Given the description of an element on the screen output the (x, y) to click on. 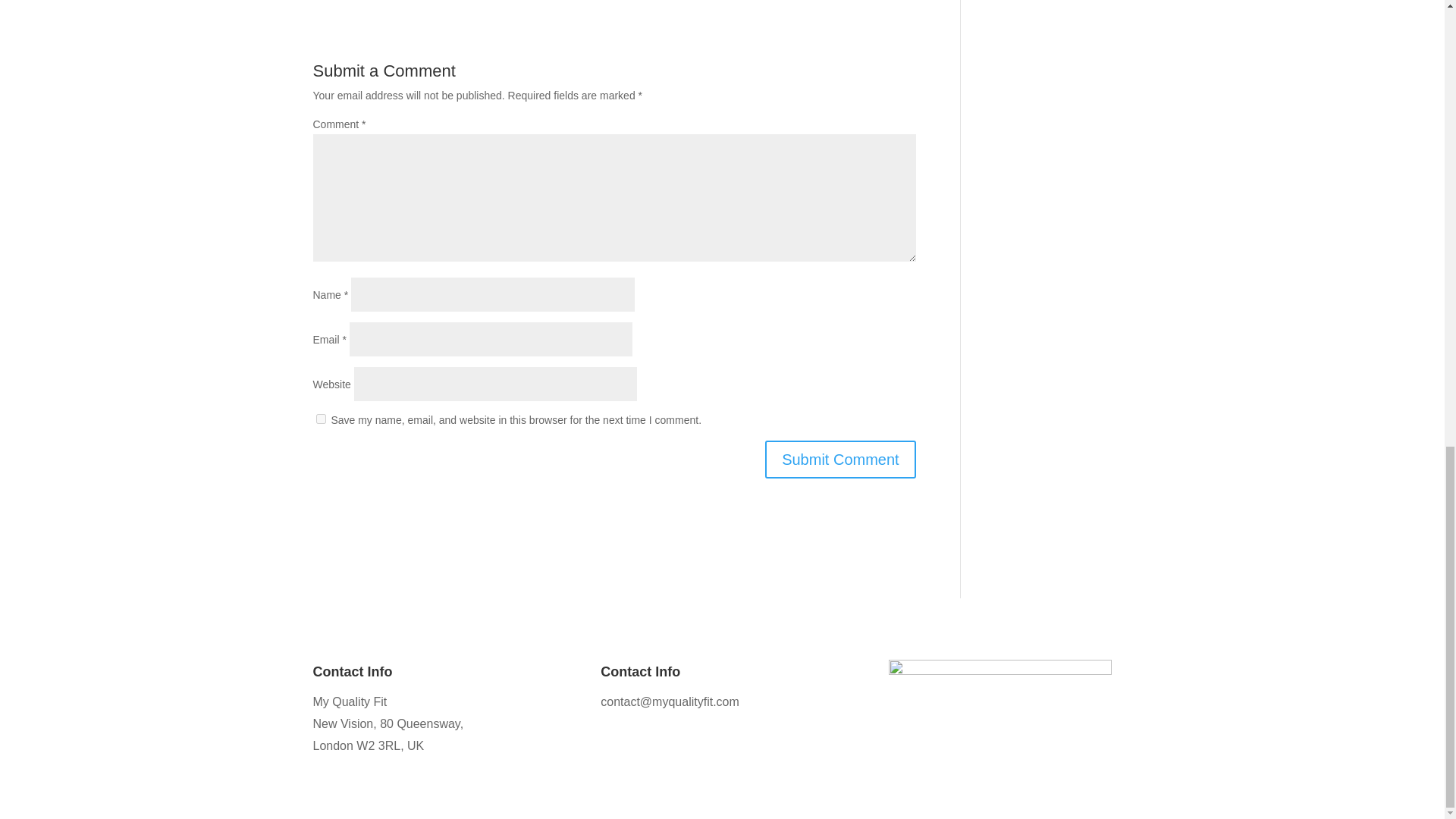
Submit Comment (840, 459)
Submit Comment (840, 459)
yes (319, 419)
